Given the description of an element on the screen output the (x, y) to click on. 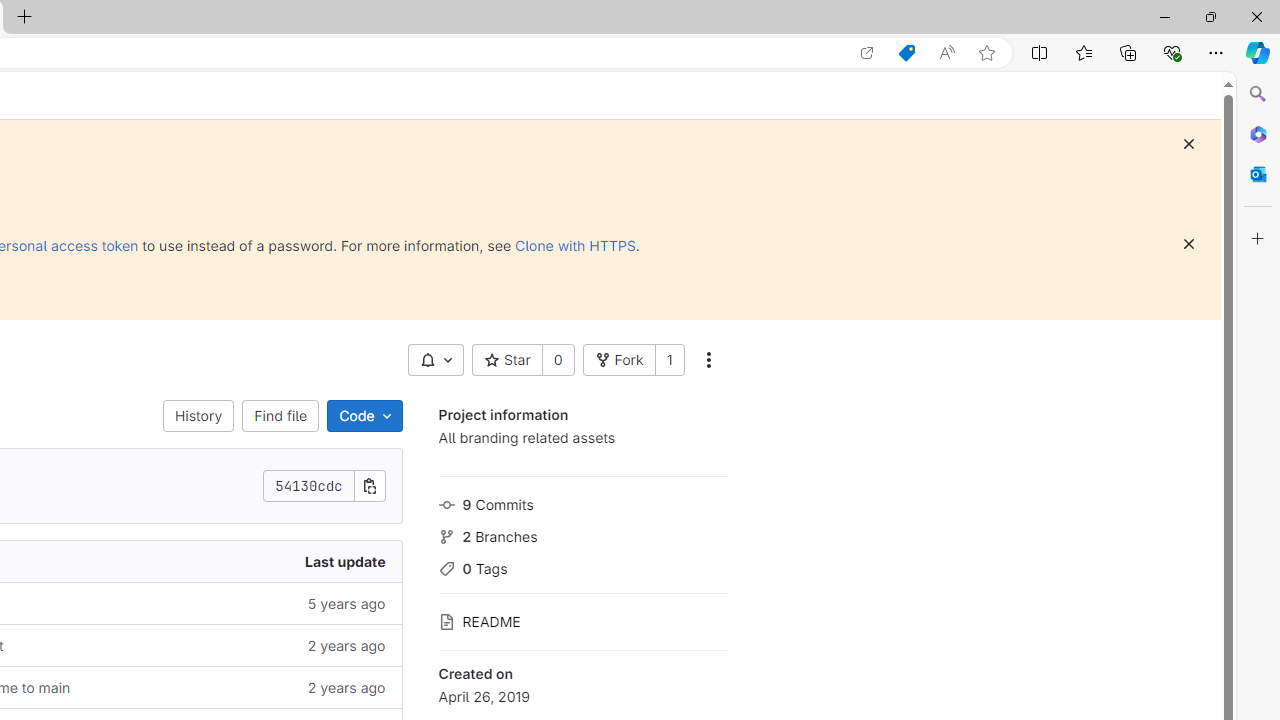
2 years ago (247, 687)
AutomationID: __BVID__301__BV_toggle_ (435, 359)
Copy commit SHA (369, 485)
Class: s16 icon gl-mr-3 gl-text-gray-500 (445, 622)
9 Commits (582, 502)
2 Branches (582, 534)
2 Branches (582, 534)
Code (364, 416)
